Given the description of an element on the screen output the (x, y) to click on. 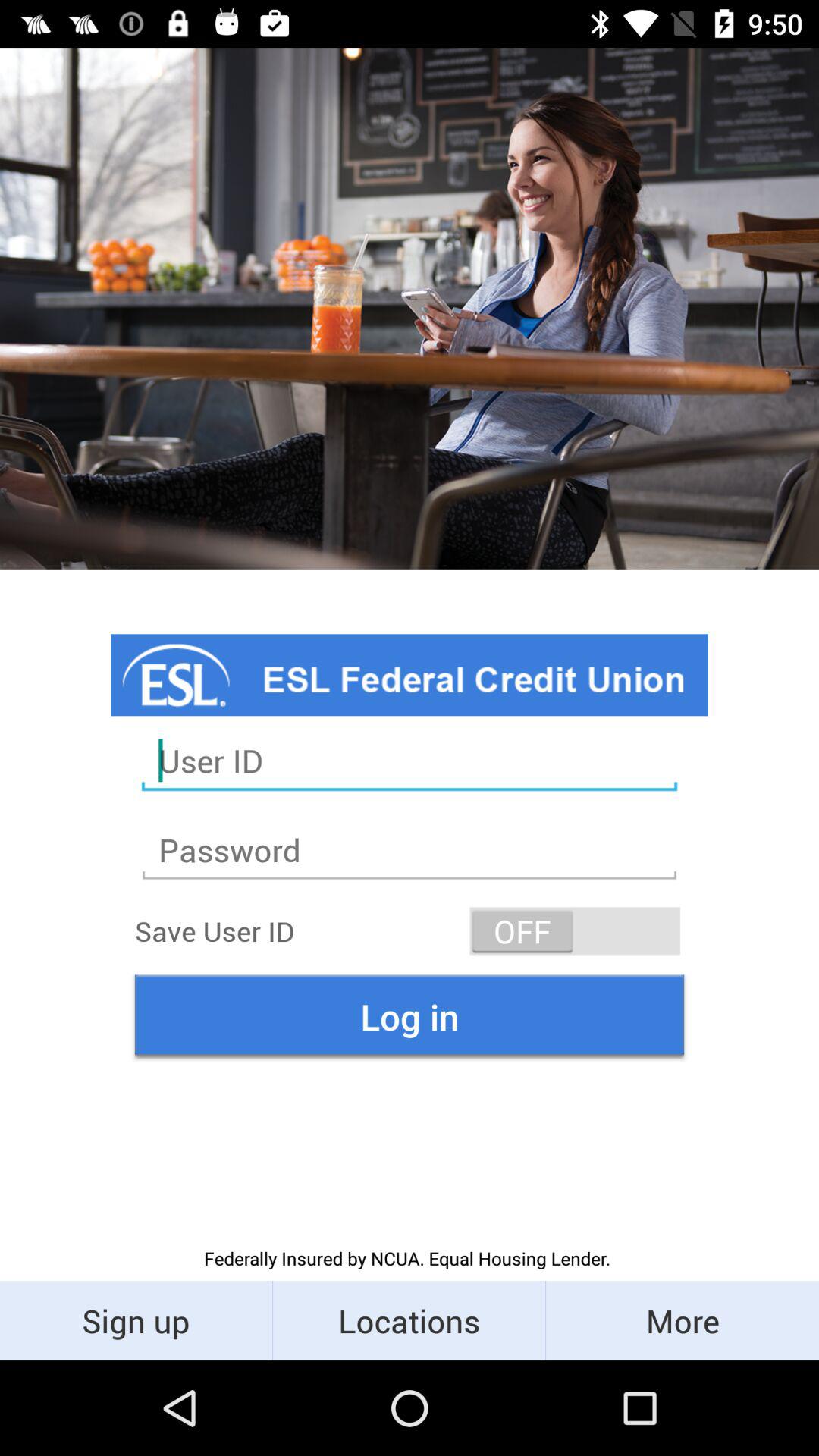
flip until log in icon (409, 1016)
